Given the description of an element on the screen output the (x, y) to click on. 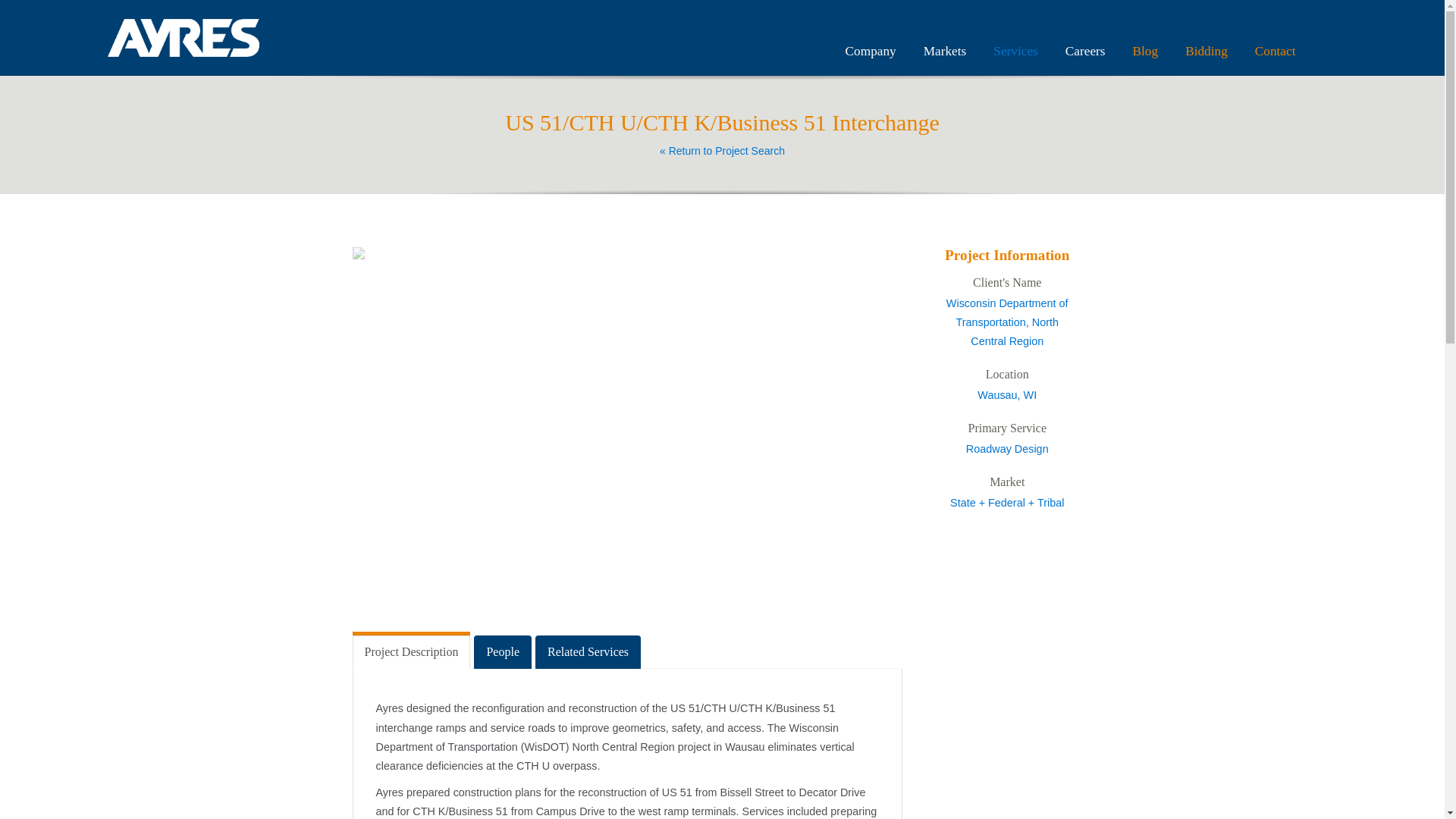
Company (870, 50)
Markets (945, 50)
